Given the description of an element on the screen output the (x, y) to click on. 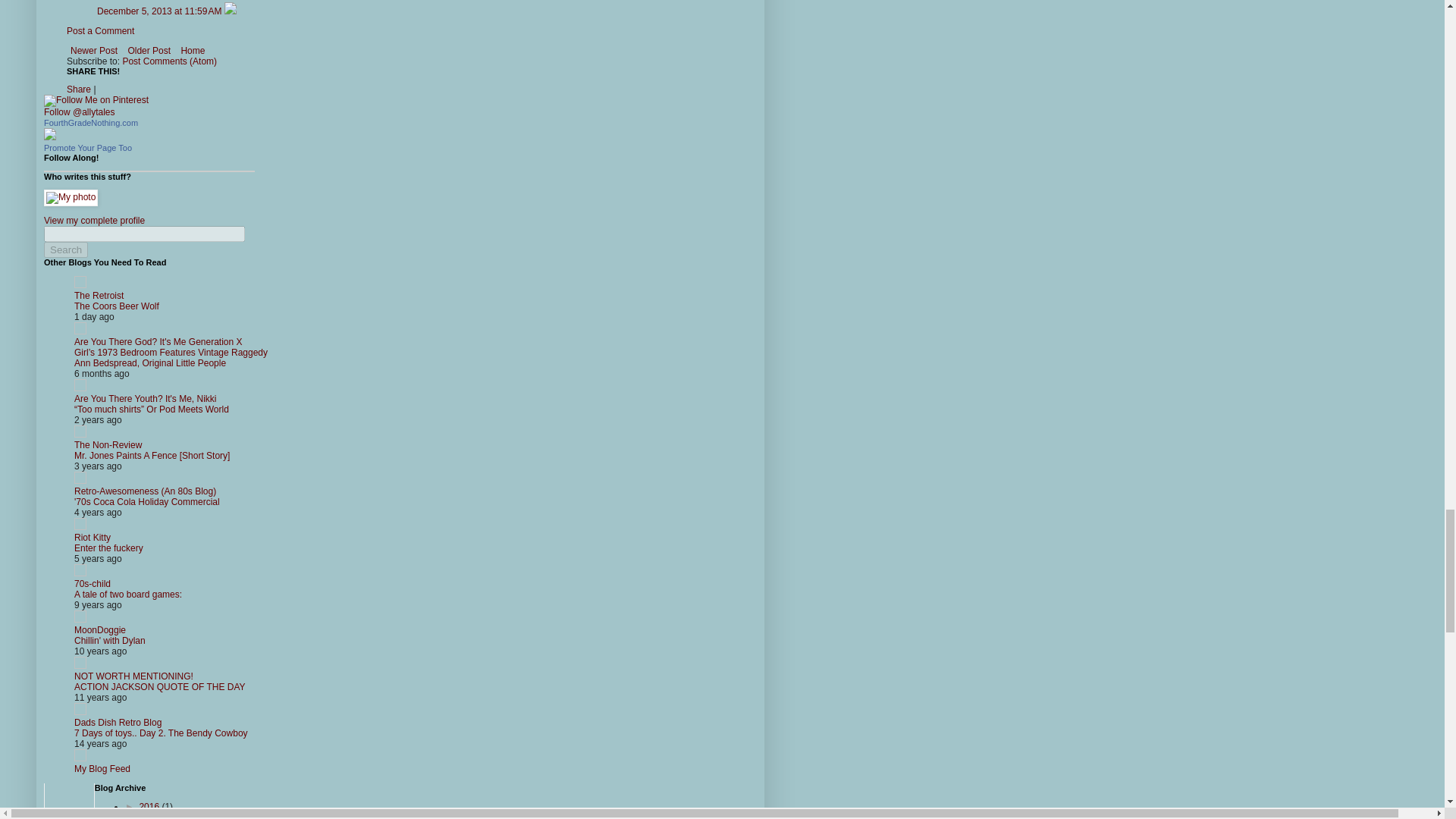
Search (65, 249)
